Given the description of an element on the screen output the (x, y) to click on. 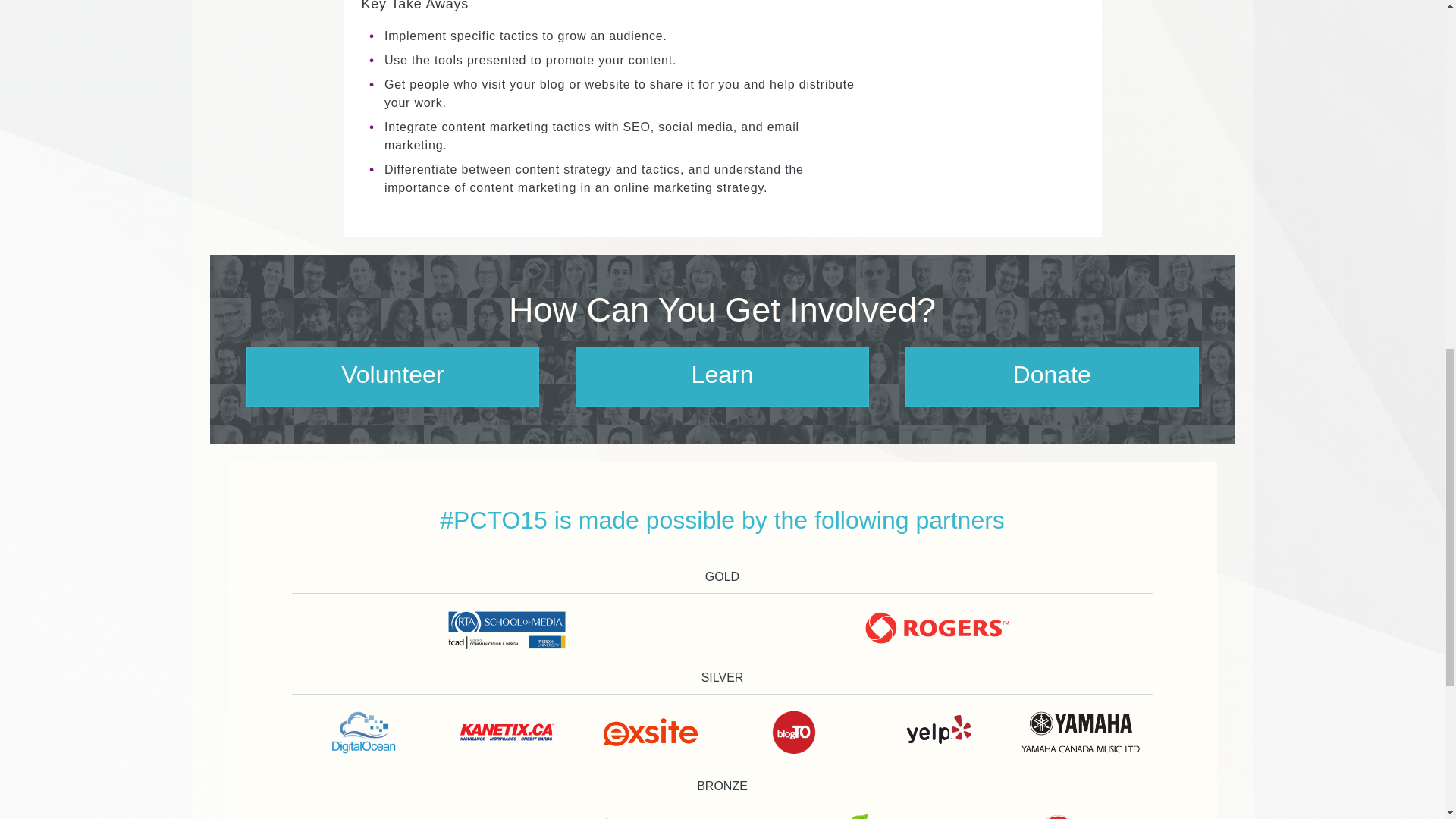
Rogers (937, 627)
Ryerson (506, 627)
Kanetix (506, 732)
Sticker Giant (1045, 811)
Yamaha Music Canada (1081, 732)
Yelp (937, 732)
Hover (399, 811)
RightSleeve (614, 810)
Freshbooks (829, 811)
Exsite (650, 732)
